Given the description of an element on the screen output the (x, y) to click on. 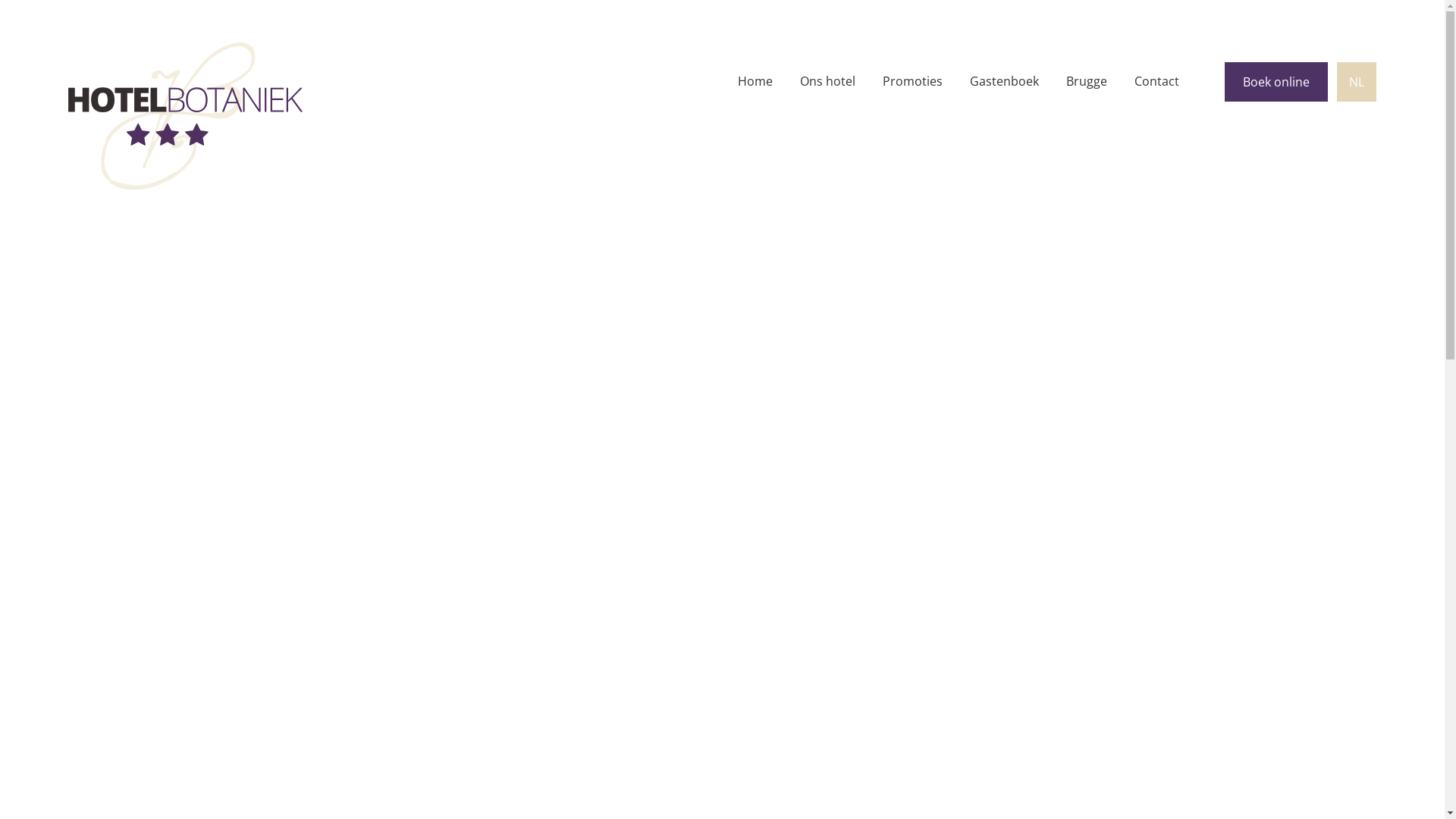
Promoties Element type: text (912, 81)
Ons hotel Element type: text (827, 81)
Gastenboek Element type: text (1003, 81)
Contact Element type: text (1156, 81)
Brugge Element type: text (1086, 81)
Home Element type: text (754, 81)
Boek online Element type: text (1275, 82)
